Given the description of an element on the screen output the (x, y) to click on. 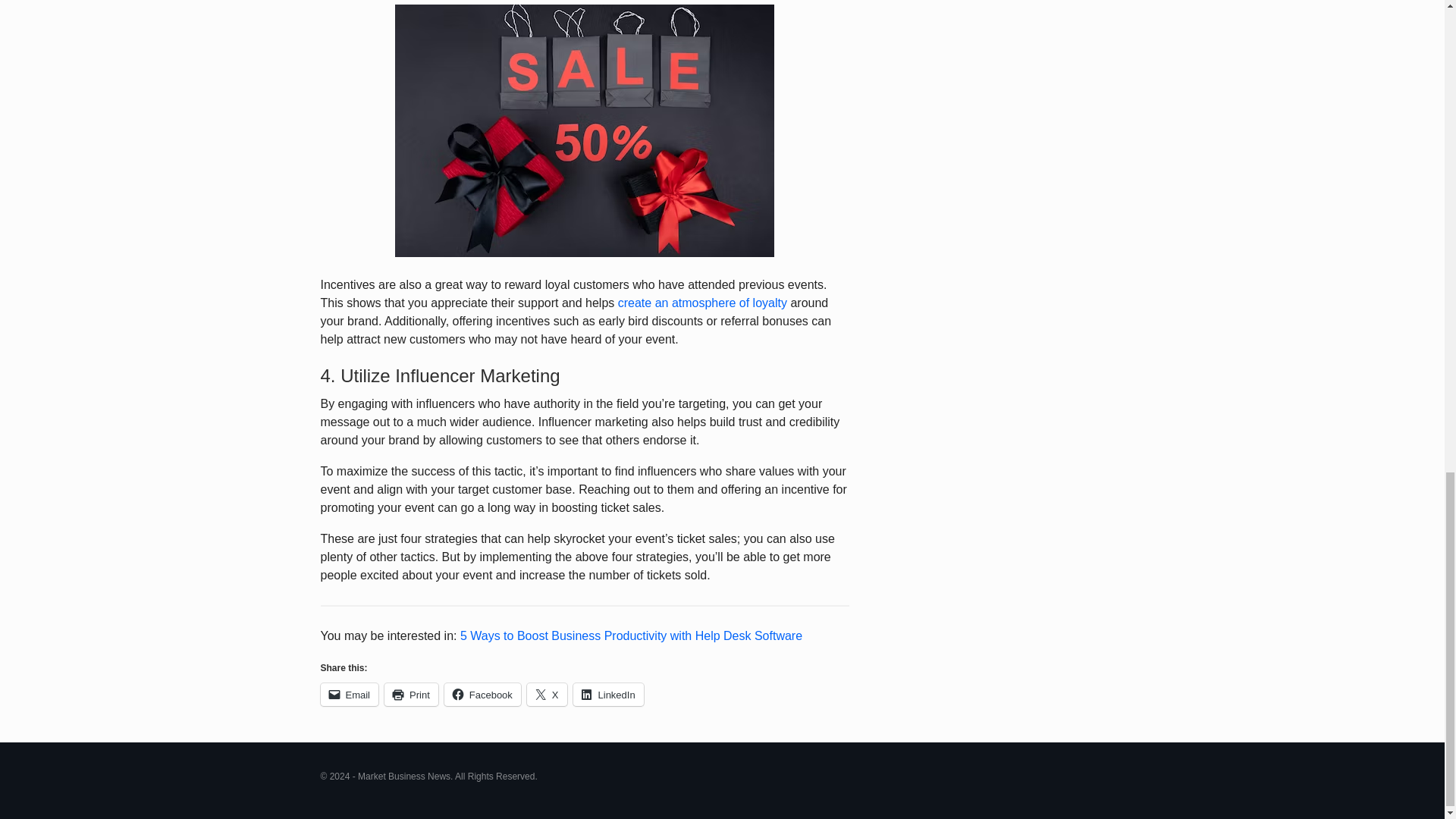
Click to share on X (547, 694)
Click to share on LinkedIn (608, 694)
create an atmosphere of loyalty (702, 302)
Email (349, 694)
Click to email a link to a friend (349, 694)
X (547, 694)
Print (411, 694)
Click to share on Facebook (482, 694)
Facebook (482, 694)
